Given the description of an element on the screen output the (x, y) to click on. 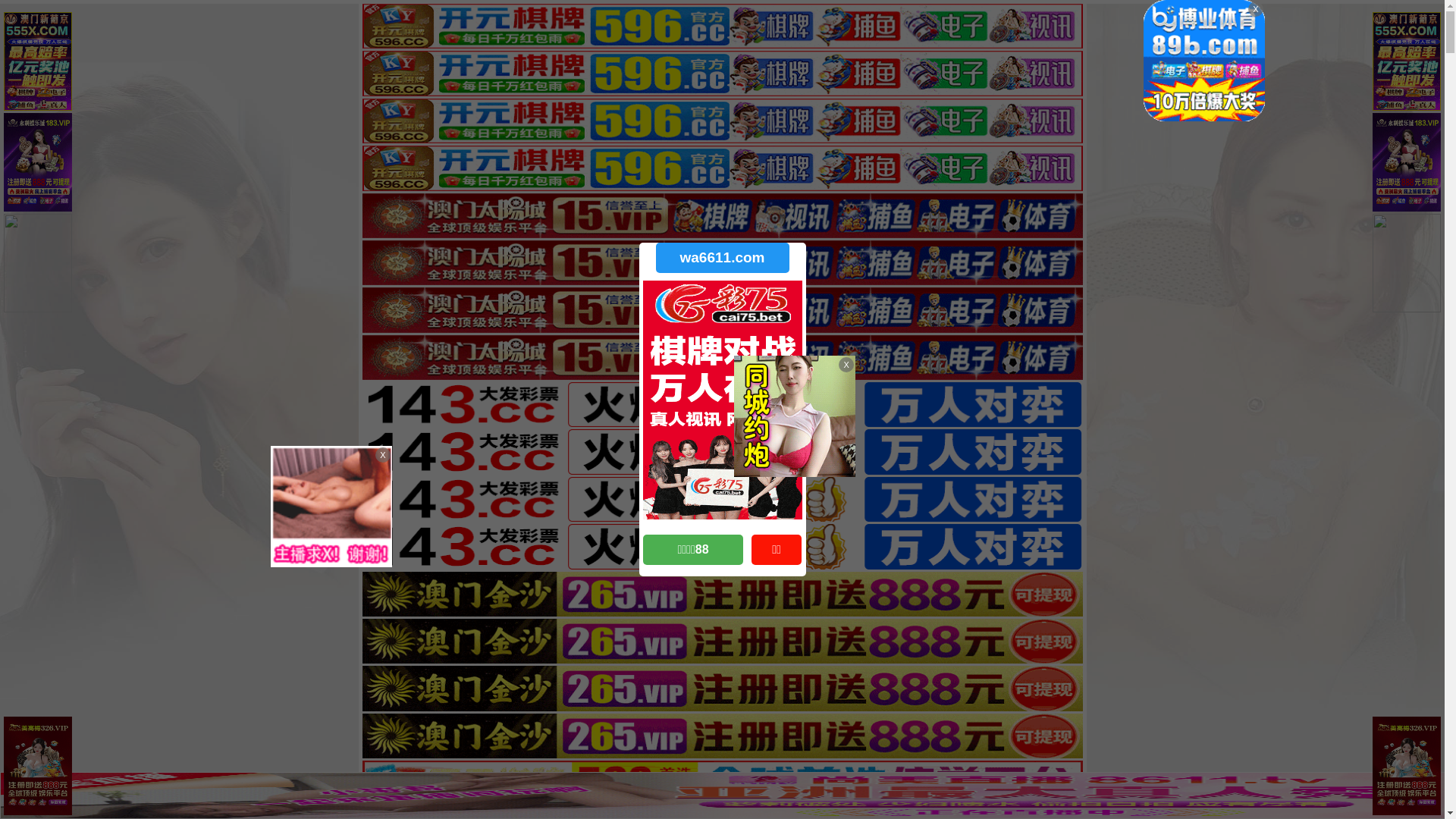
wa6611.com Element type: text (721, 257)
X Element type: text (1430, 789)
